Given the description of an element on the screen output the (x, y) to click on. 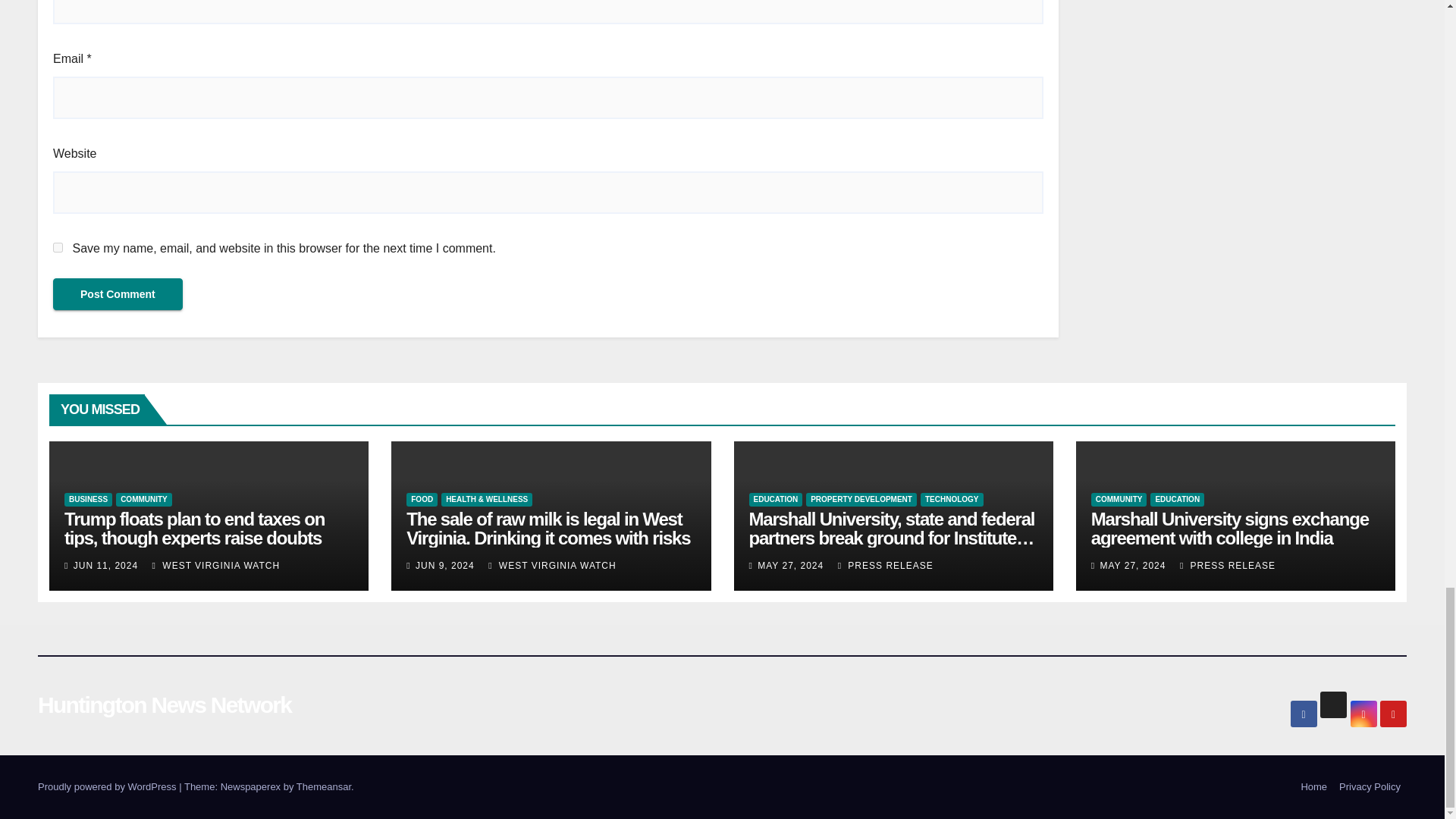
Post Comment (117, 294)
yes (57, 247)
Home (1313, 786)
